Given the description of an element on the screen output the (x, y) to click on. 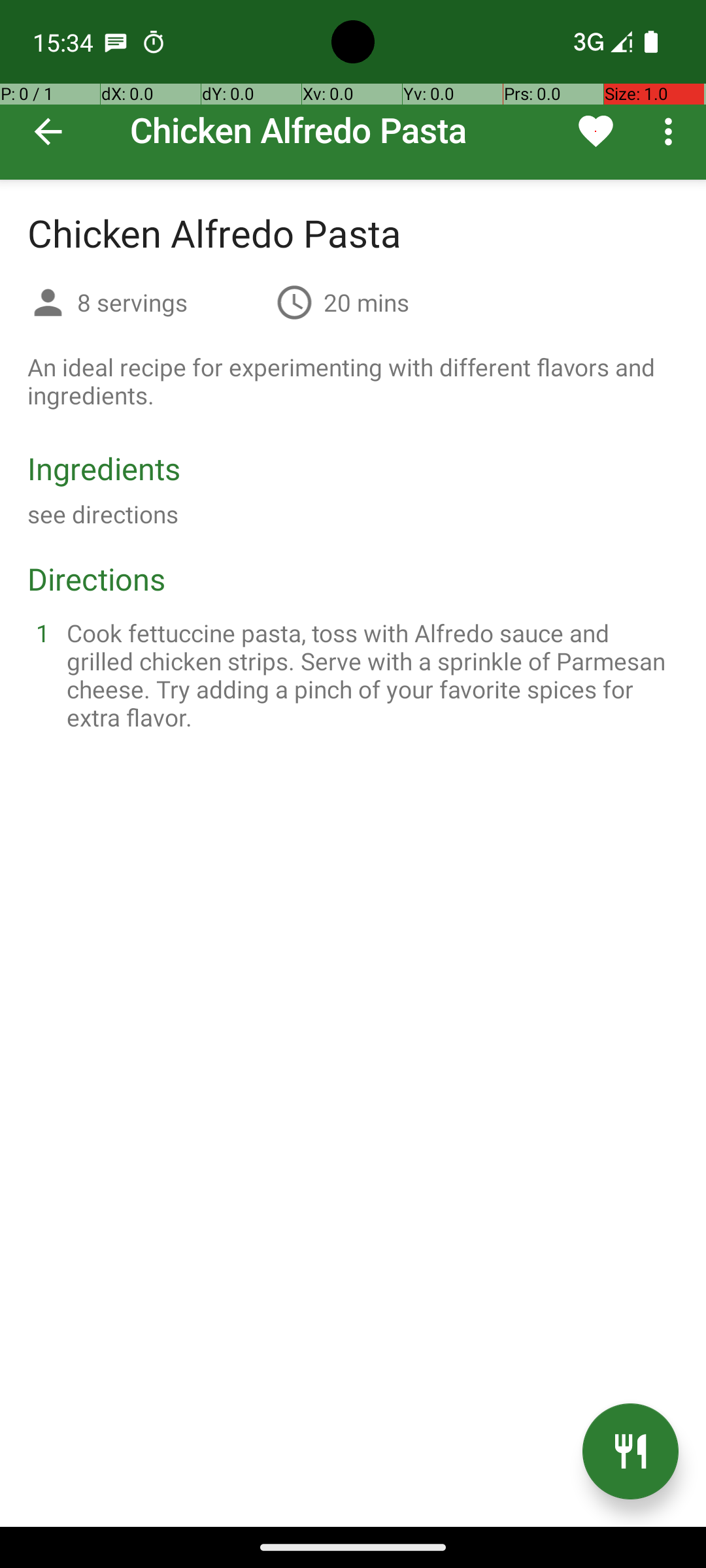
Cook fettuccine pasta, toss with Alfredo sauce and grilled chicken strips. Serve with a sprinkle of Parmesan cheese. Try adding a pinch of your favorite spices for extra flavor. Element type: android.widget.TextView (368, 674)
